Given the description of an element on the screen output the (x, y) to click on. 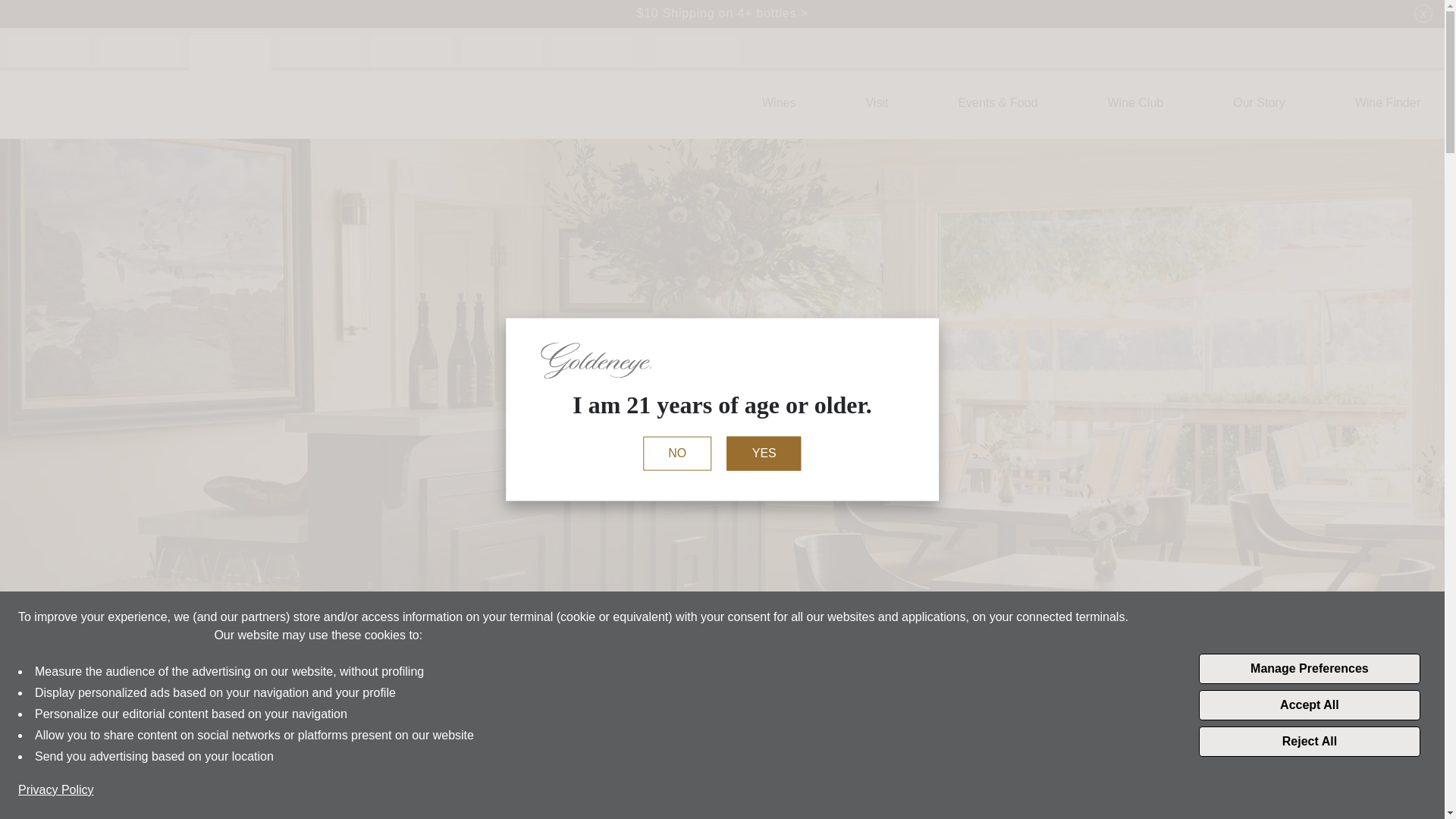
Manage Preferences (1309, 668)
Privacy Policy (55, 789)
Goldeneye Logo (77, 104)
Goldeneye Logo (77, 104)
Accept All (1309, 705)
Wine Club (1134, 102)
X (1422, 13)
Reject All (1309, 741)
